Given the description of an element on the screen output the (x, y) to click on. 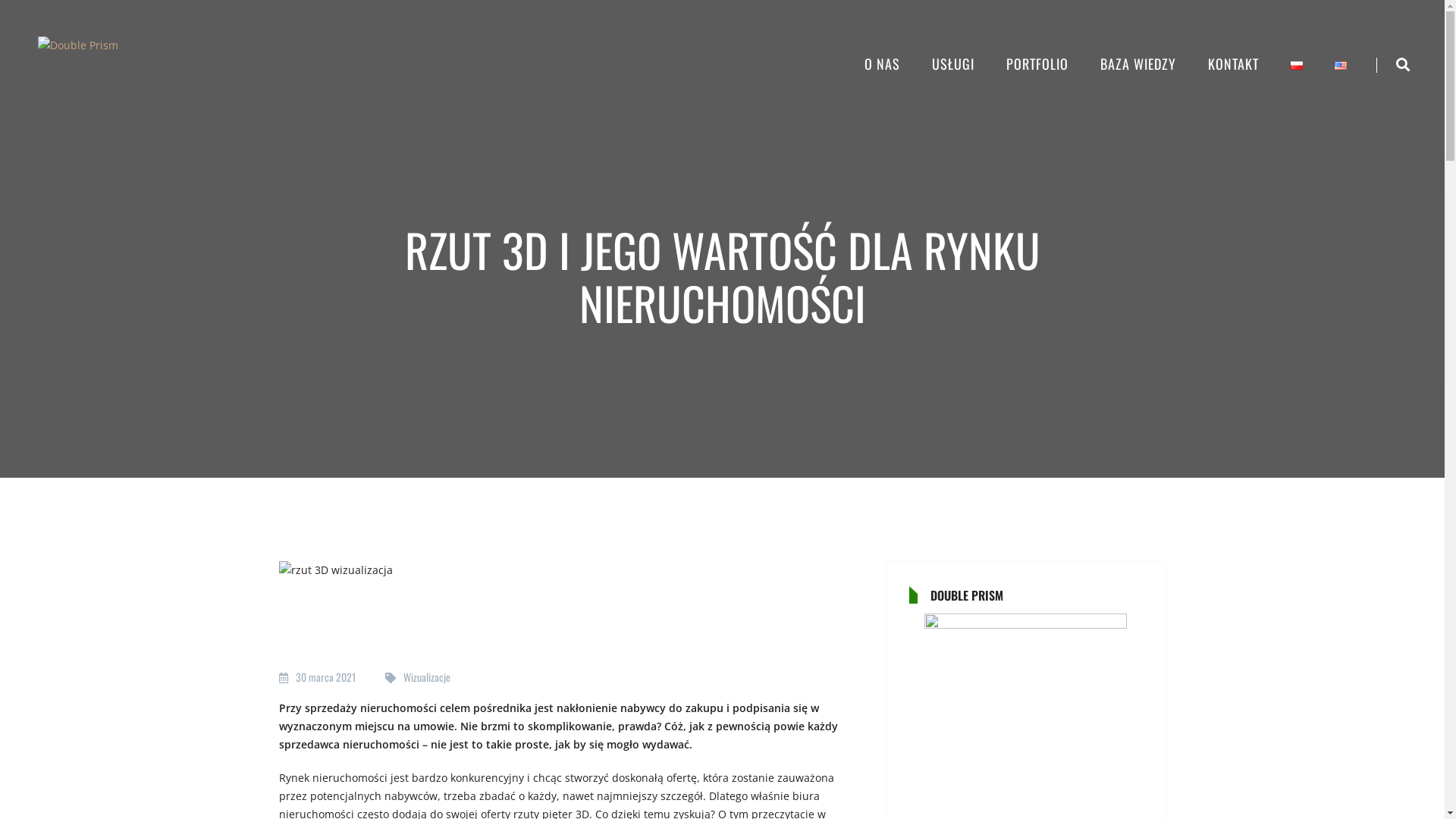
30 marca 2021 Element type: text (325, 676)
Wizualizacje i animacje 3D - Double Prism Element type: hover (77, 45)
Wizualizacje Element type: text (426, 676)
O NAS Element type: text (882, 64)
KONTAKT Element type: text (1233, 64)
BAZA WIEDZY Element type: text (1138, 64)
PORTFOLIO Element type: text (1037, 64)
